Given the description of an element on the screen output the (x, y) to click on. 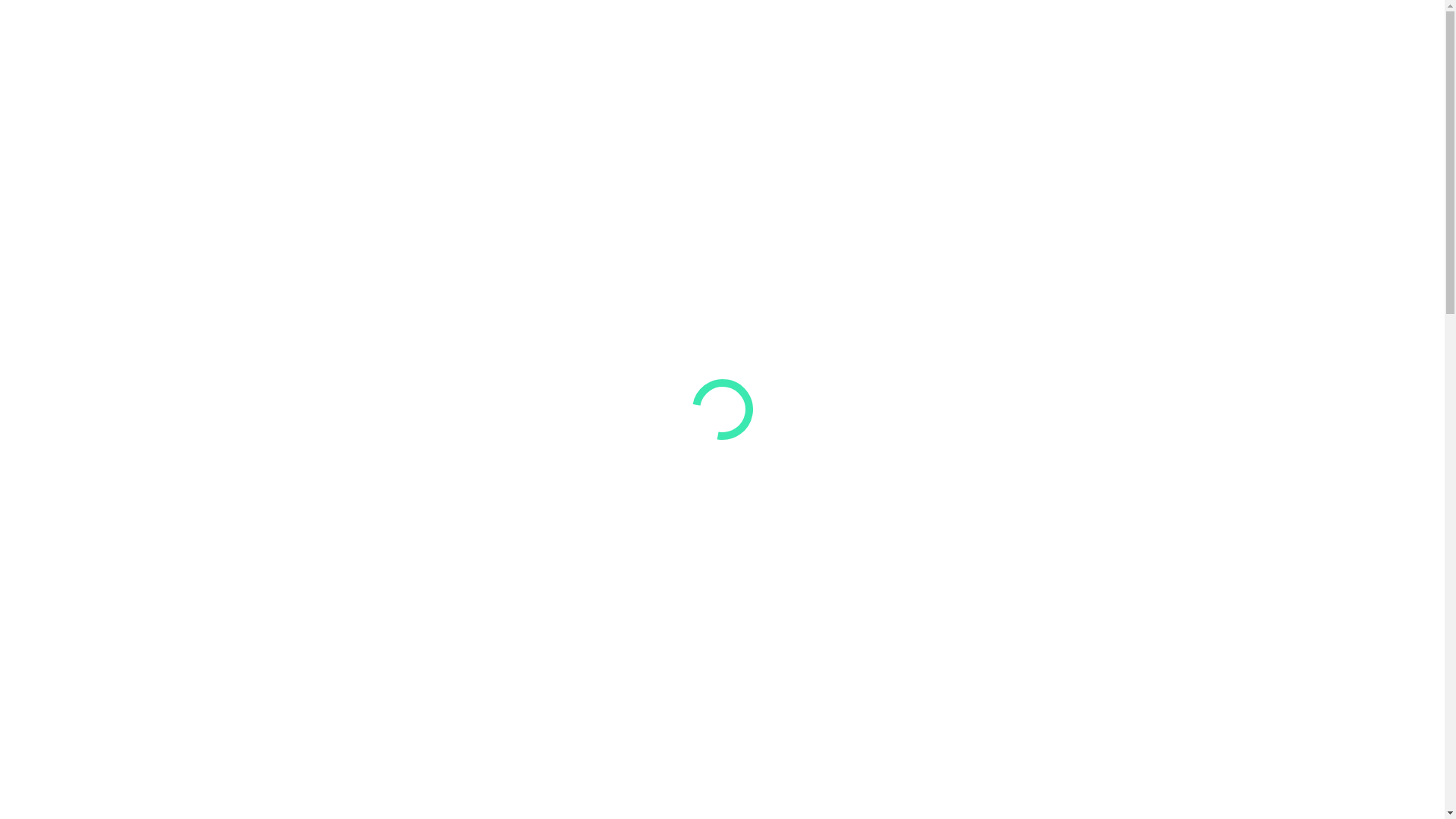
1300 134 408 Element type: text (1389, 37)
OUR PROSTHETIST Element type: text (214, 37)
Mydenture Element type: hover (42, 37)
HOME Element type: text (112, 37)
info@mydenture.com.au Element type: text (1258, 37)
BOOK FREE APPOINTMENT Element type: text (1064, 38)
CONTACT US Element type: text (339, 37)
